Given the description of an element on the screen output the (x, y) to click on. 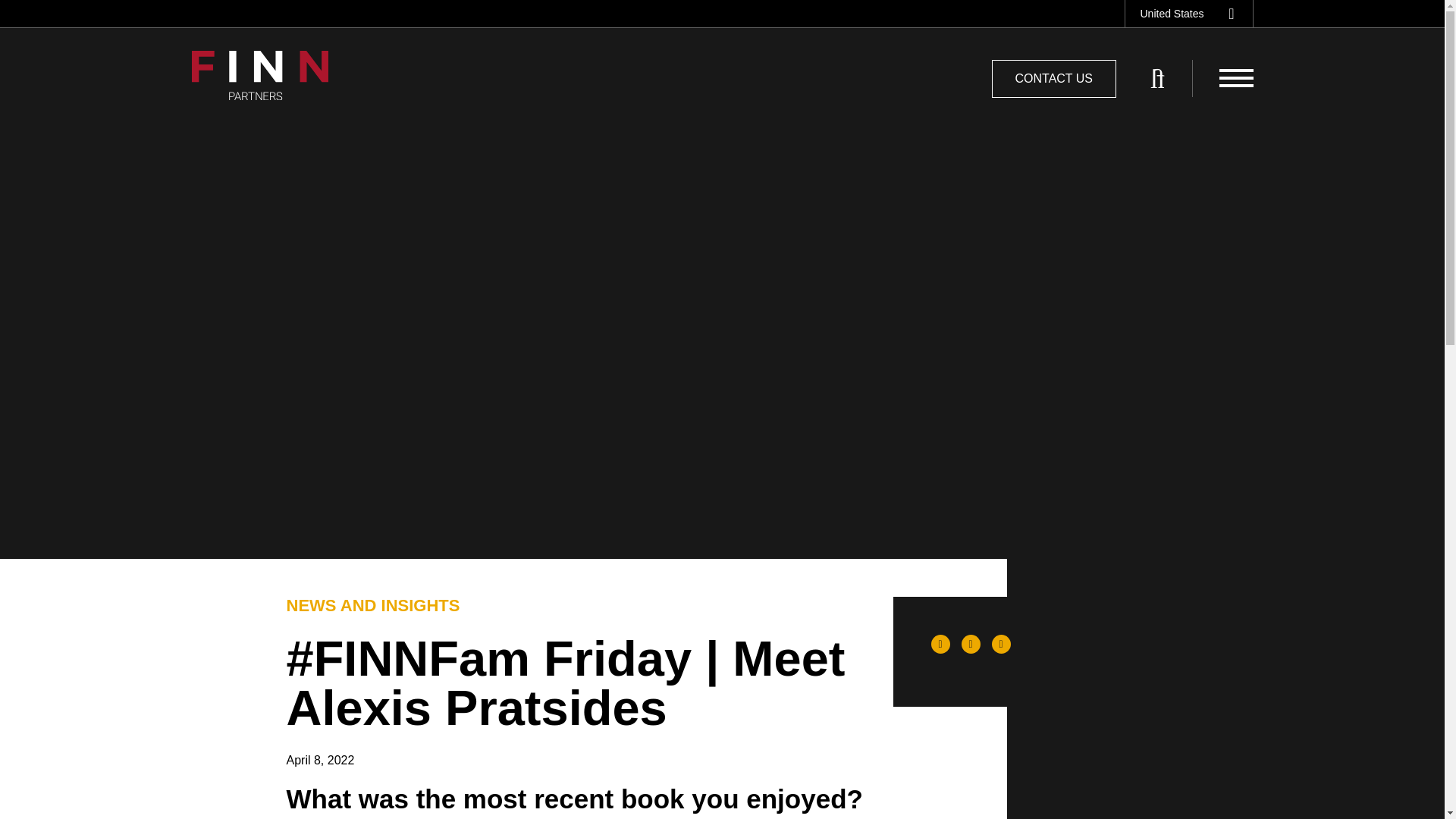
United States (1183, 13)
CONTACT US (1053, 78)
Share this page on LinkedIn (969, 643)
Share this page on Twitter (1000, 643)
NEWS AND INSIGHTS (373, 605)
Share this page on Facebook (940, 643)
